Given the description of an element on the screen output the (x, y) to click on. 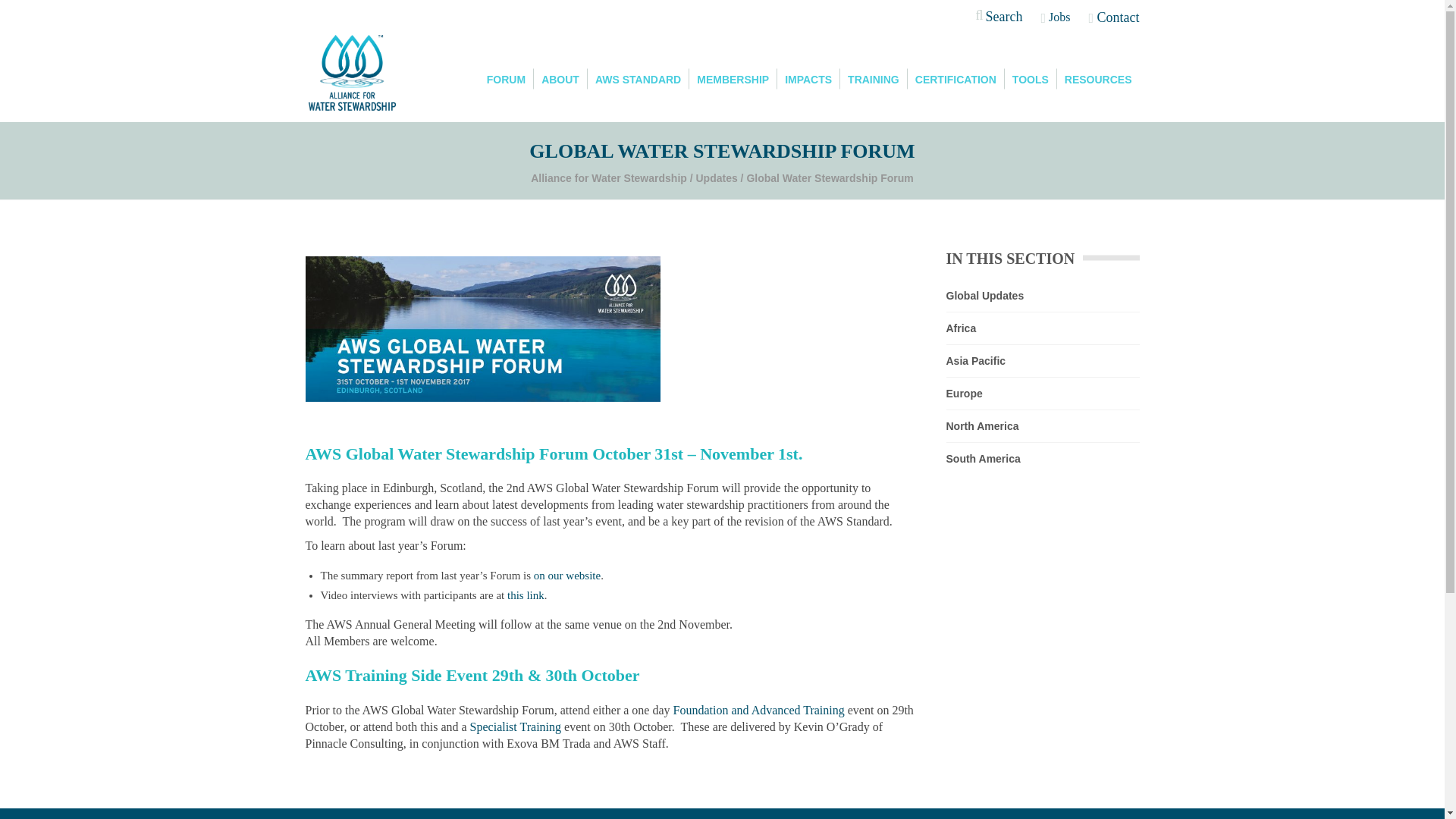
Alliance for Water Stewardship (609, 178)
RESOURCES (1098, 78)
CERTIFICATION (955, 78)
this link (525, 594)
MEMBERSHIP (732, 78)
Search (996, 58)
Search (998, 18)
Contact (1112, 17)
AWS STANDARD (638, 78)
Updates (716, 178)
on our website (566, 575)
Jobs (1055, 16)
